Given the description of an element on the screen output the (x, y) to click on. 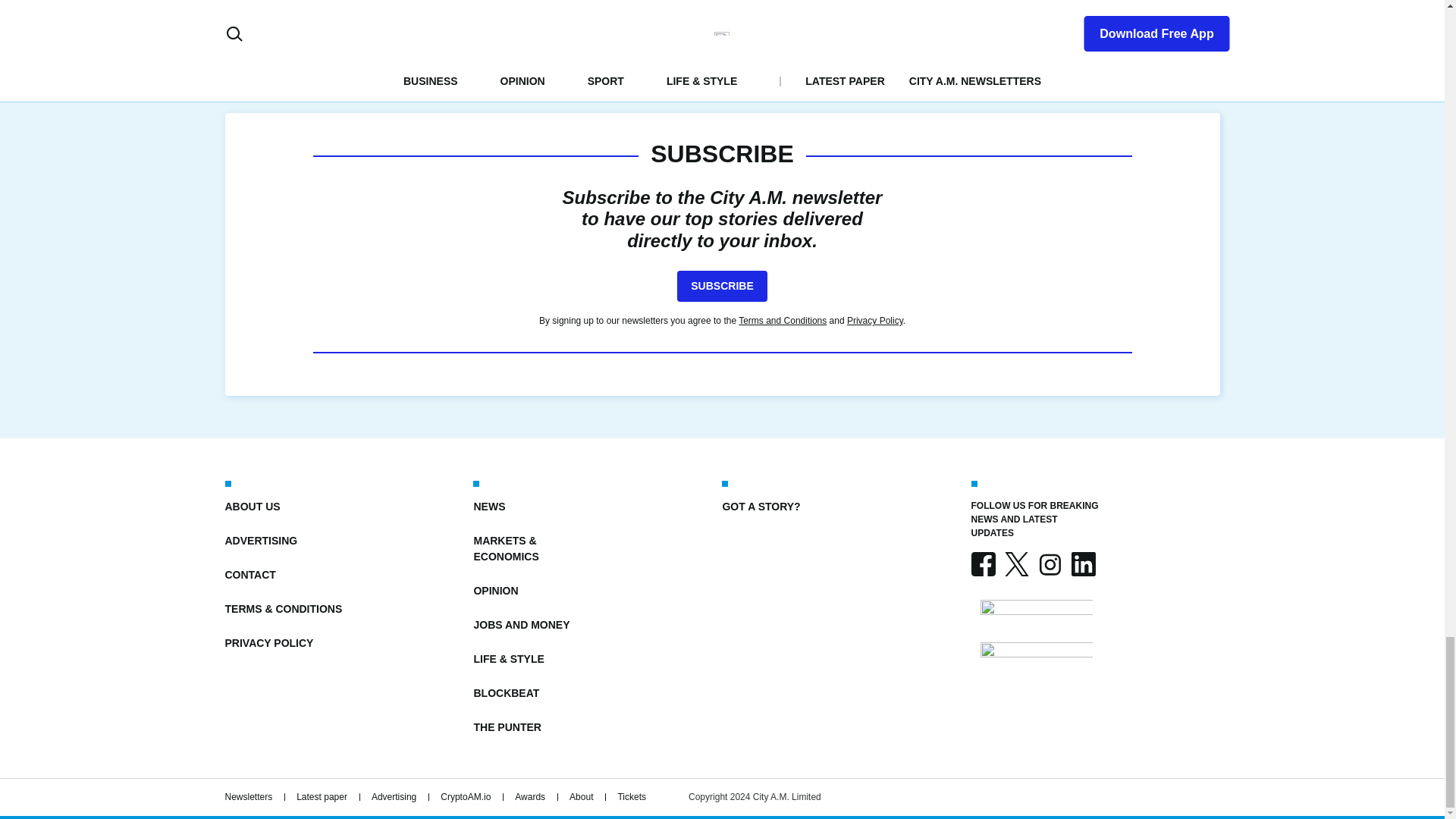
LINKEDIN (1082, 564)
FACEBOOK (982, 564)
INSTAGRAM (1048, 564)
X (1015, 564)
